Given the description of an element on the screen output the (x, y) to click on. 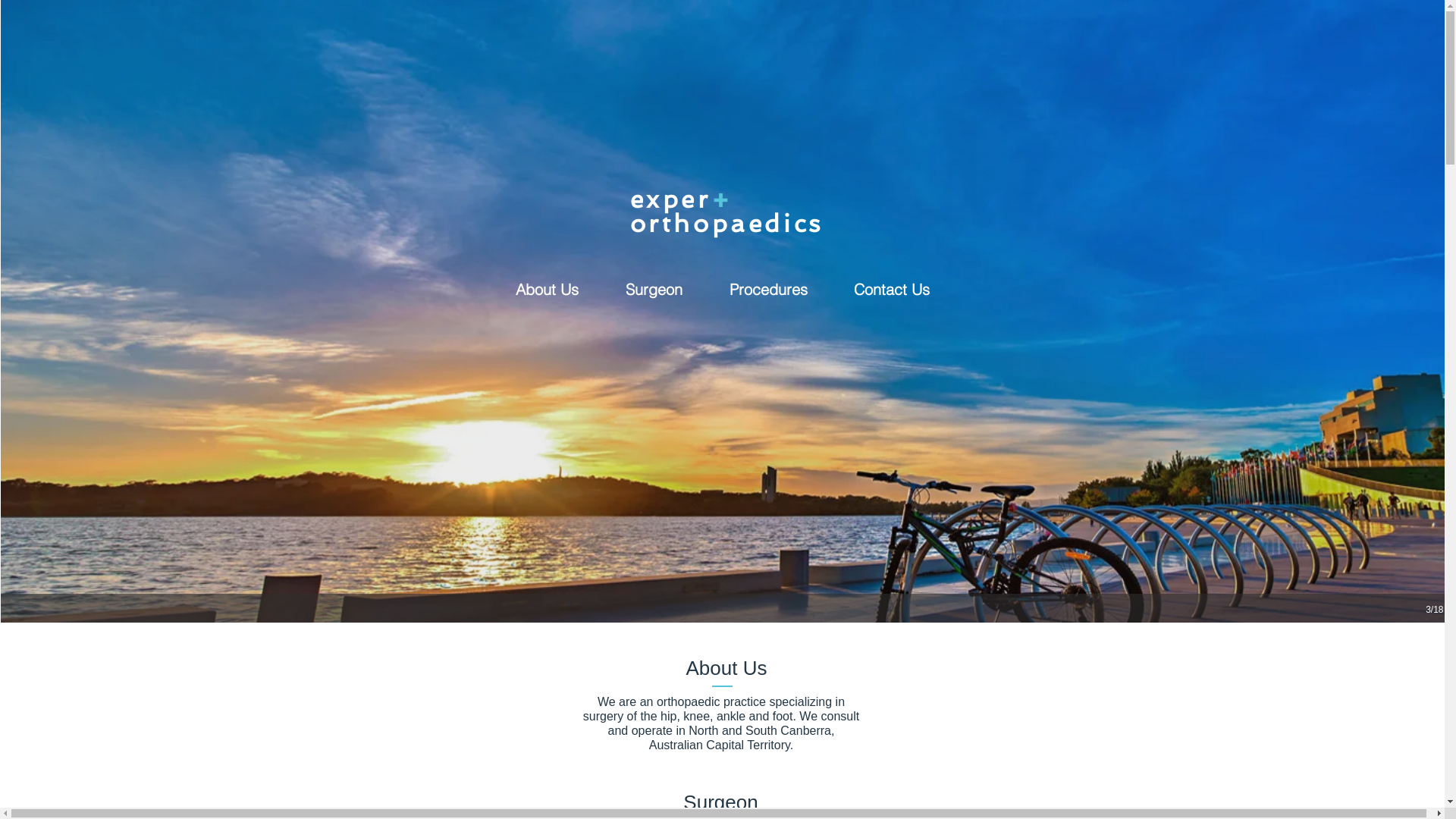
Surgeon Element type: text (654, 289)
About Us Element type: text (546, 289)
Procedures Element type: text (767, 289)
Contact Us Element type: text (892, 289)
